Given the description of an element on the screen output the (x, y) to click on. 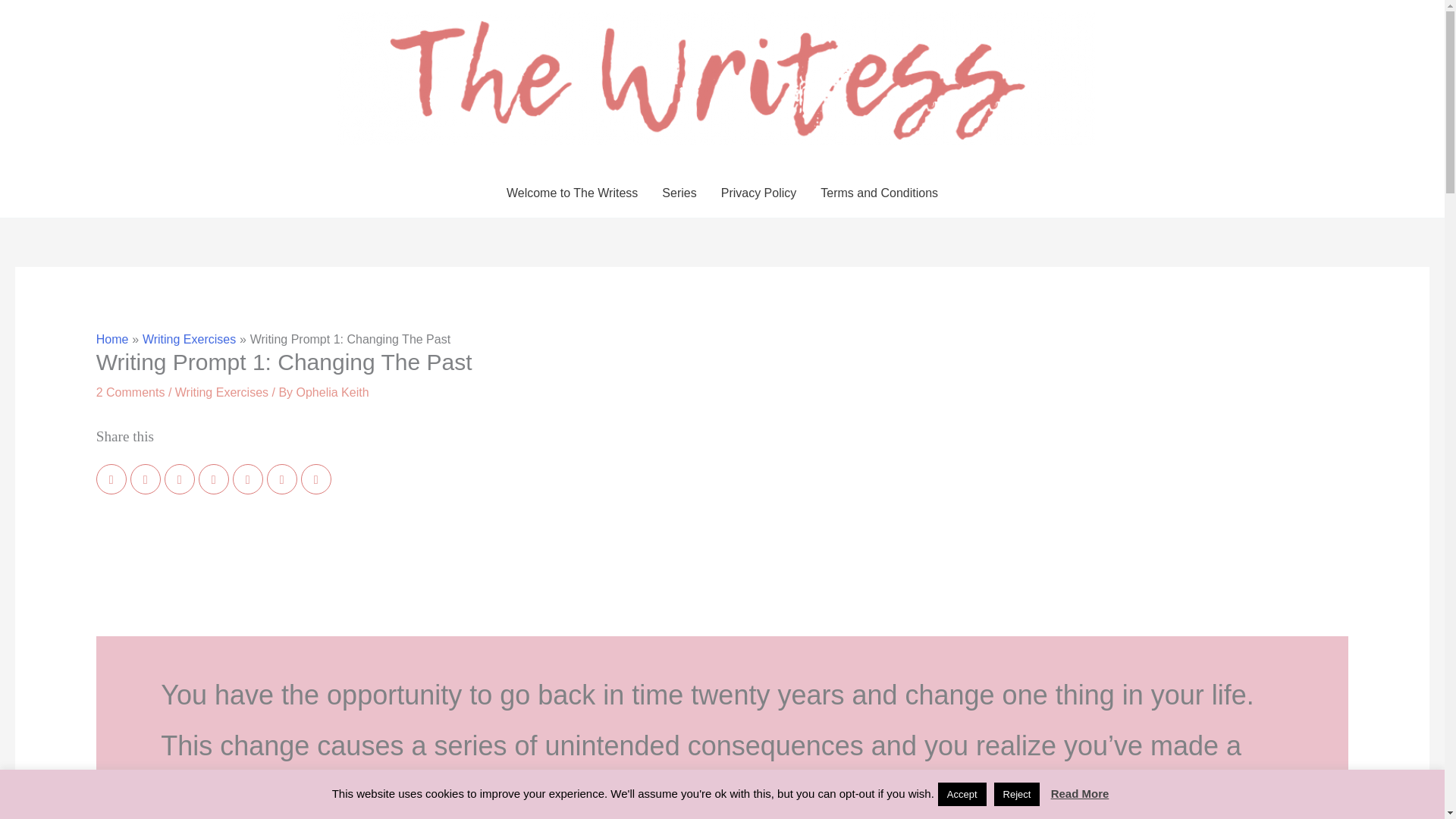
Advertisement (721, 576)
Privacy Policy (759, 192)
Writing Exercises (188, 338)
Home (112, 338)
Series (678, 192)
View all posts by Ophelia Keith (333, 391)
Writing Exercises (220, 391)
2 Comments (130, 391)
Welcome to The Writess (572, 192)
Terms and Conditions (879, 192)
Ophelia Keith (333, 391)
